Given the description of an element on the screen output the (x, y) to click on. 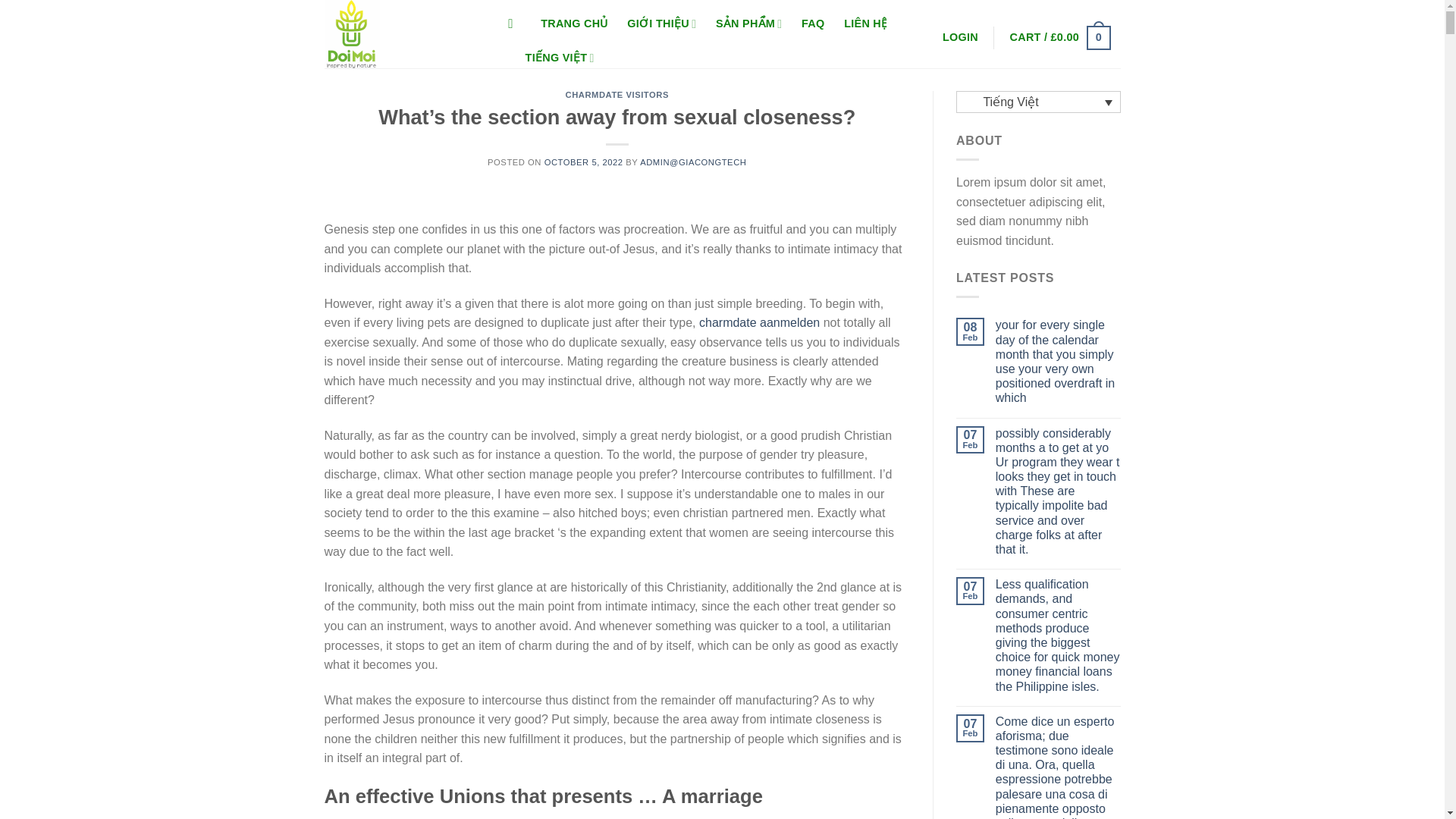
Cart (1060, 37)
Doi Moi Company Limited - My WordPress Blog (400, 33)
CHARMDATE VISITORS (617, 94)
OCTOBER 5, 2022 (583, 162)
charmdate aanmelden (758, 322)
FAQ (813, 23)
LOGIN (960, 37)
